Given the description of an element on the screen output the (x, y) to click on. 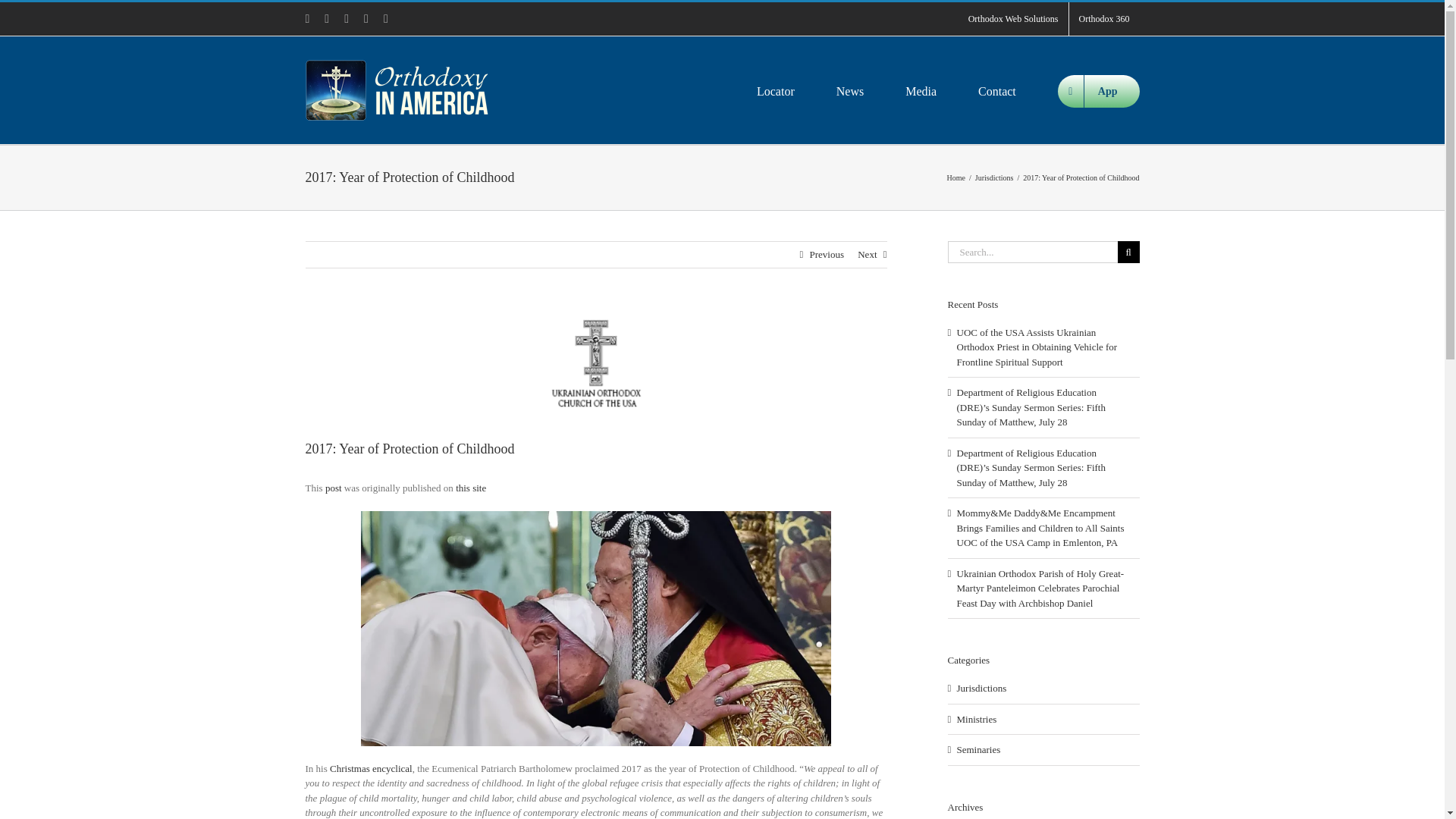
Orthodox 360 (1104, 19)
Orthodox Web Solutions (1013, 19)
